Given the description of an element on the screen output the (x, y) to click on. 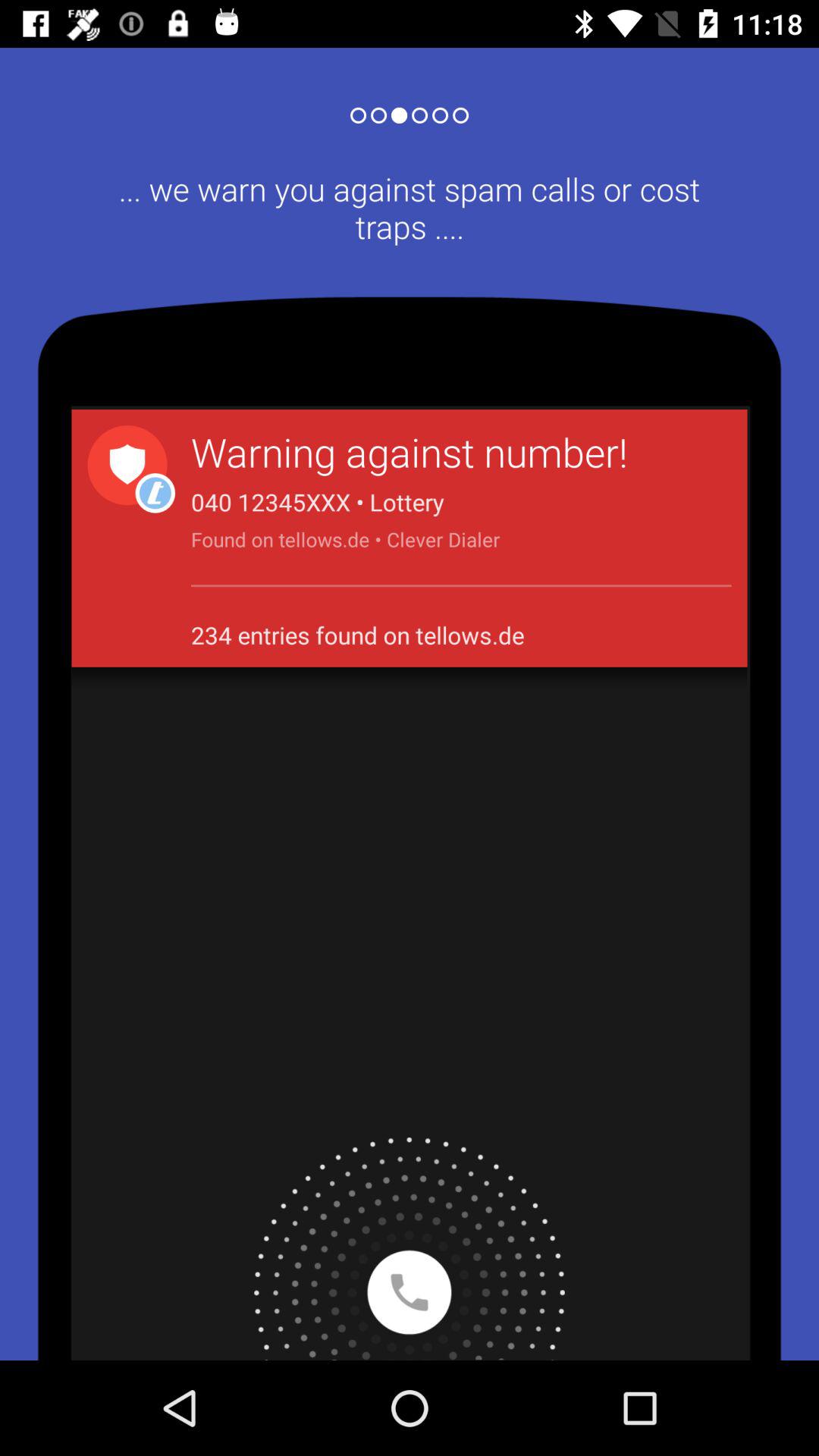
click on the phone icon (409, 1248)
